Given the description of an element on the screen output the (x, y) to click on. 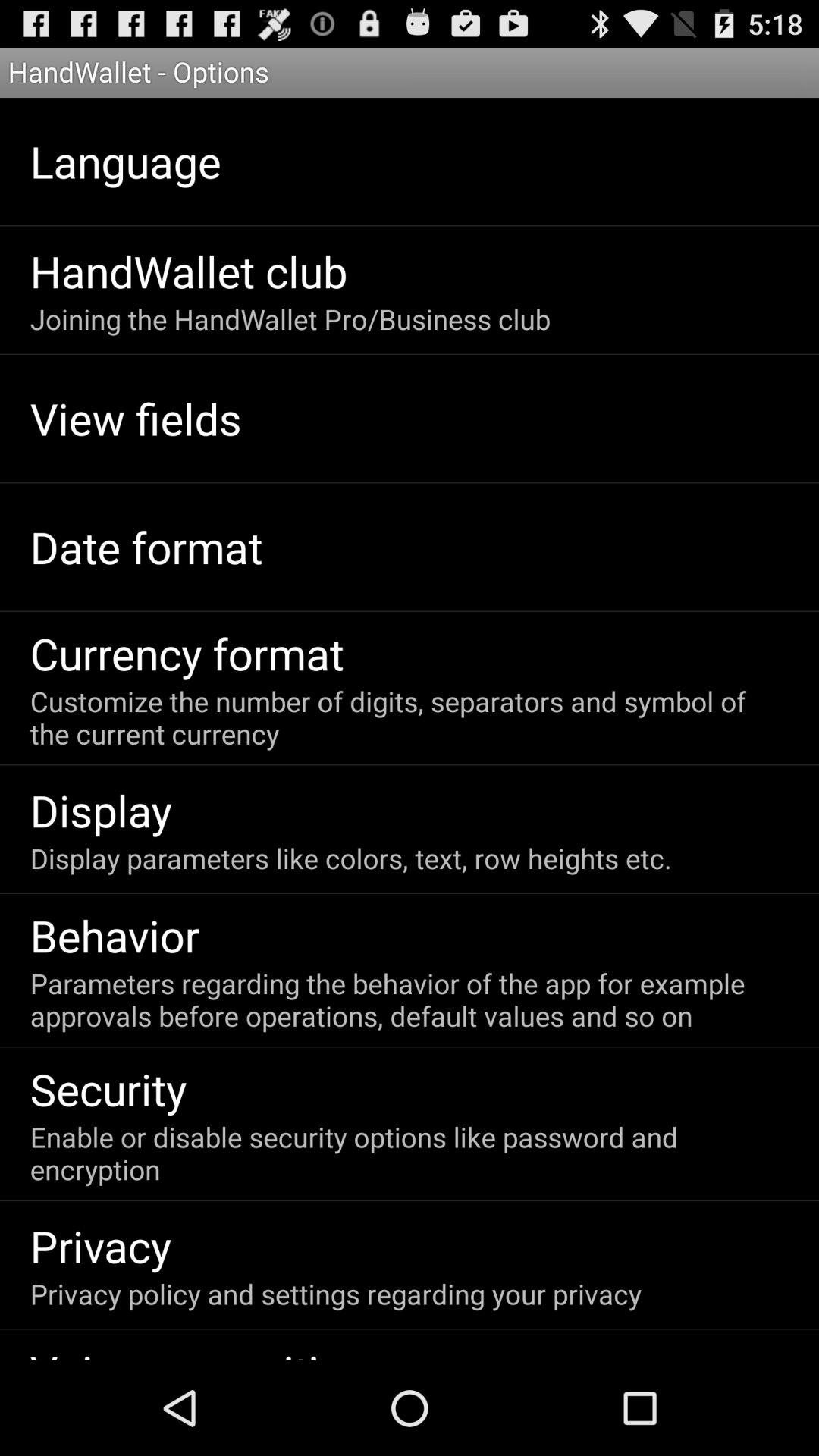
turn off the app below date format (187, 652)
